Given the description of an element on the screen output the (x, y) to click on. 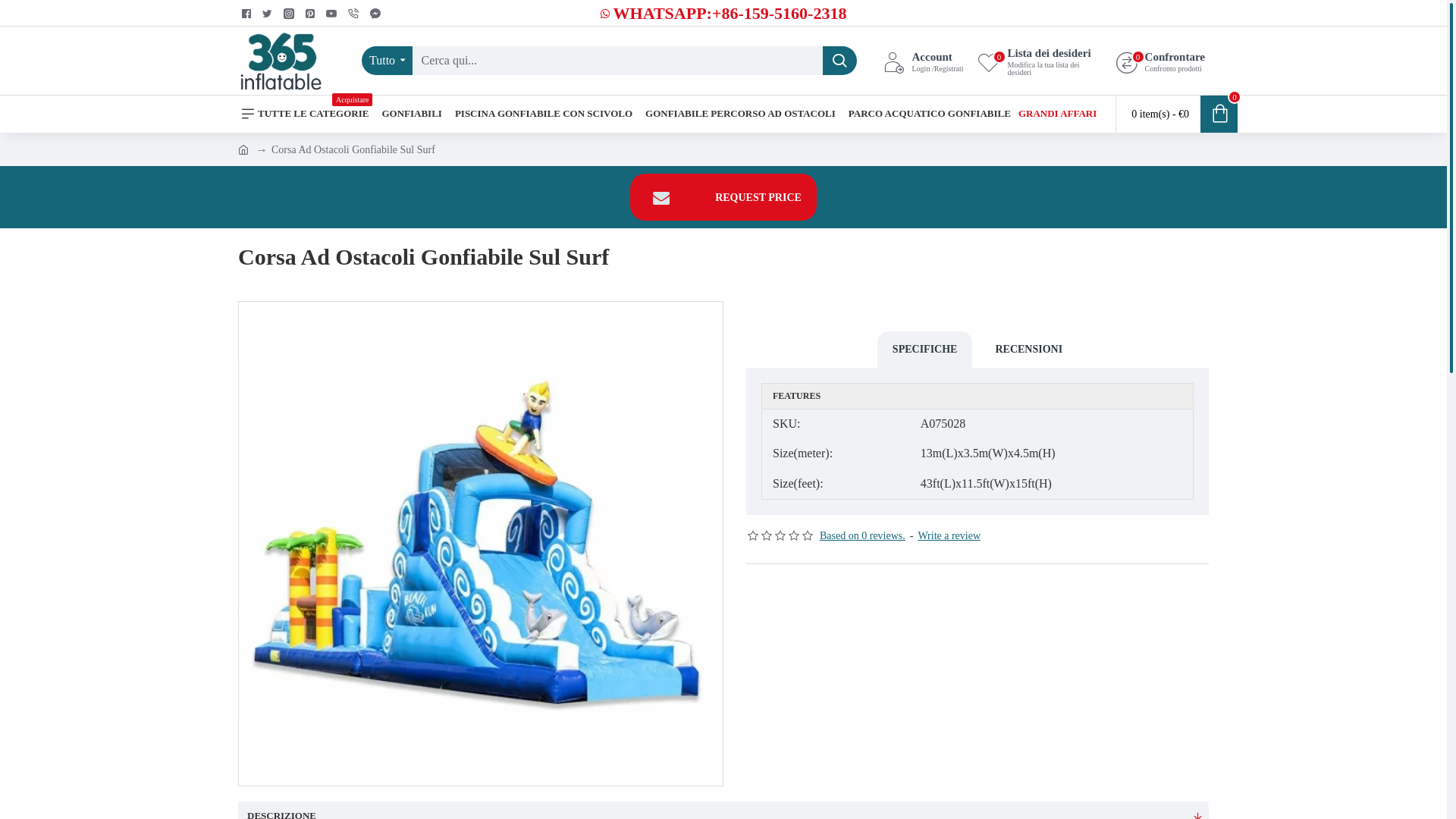
SPECIFICHE Element type: text (924, 349)
GONFIABILI Element type: text (411, 113)
Account
Login /Registrati Element type: text (923, 59)
Confrontare
Confronto prodotti
0 Element type: text (1160, 59)
REQUEST PRICE Element type: text (723, 196)
Lista dei desideri
Modifica la tua lista dei desideri
0 Element type: text (1039, 60)
TUTTE LE CATEGORIE
Acquistare Element type: text (305, 113)
WHATSAPP:+86-159-5160-2318 Element type: text (723, 13)
PARCO ACQUATICO GONFIABILE Element type: text (929, 113)
Corsa Ad Ostacoli Gonfiabile Sul Surf Element type: hover (480, 543)
PISCINA GONFIABILE CON SCIVOLO Element type: text (543, 113)
Corsa Ad Ostacoli Gonfiabile Sul Surf Element type: text (353, 148)
GONFIABILE PERCORSO AD OSTACOLI Element type: text (740, 113)
Based on 0 reviews. Element type: text (862, 535)
RECENSIONI Element type: text (1028, 349)
365gonfiabili.it Element type: hover (280, 60)
GRANDI AFFARI Element type: text (1057, 113)
Write a review Element type: text (948, 535)
